Given the description of an element on the screen output the (x, y) to click on. 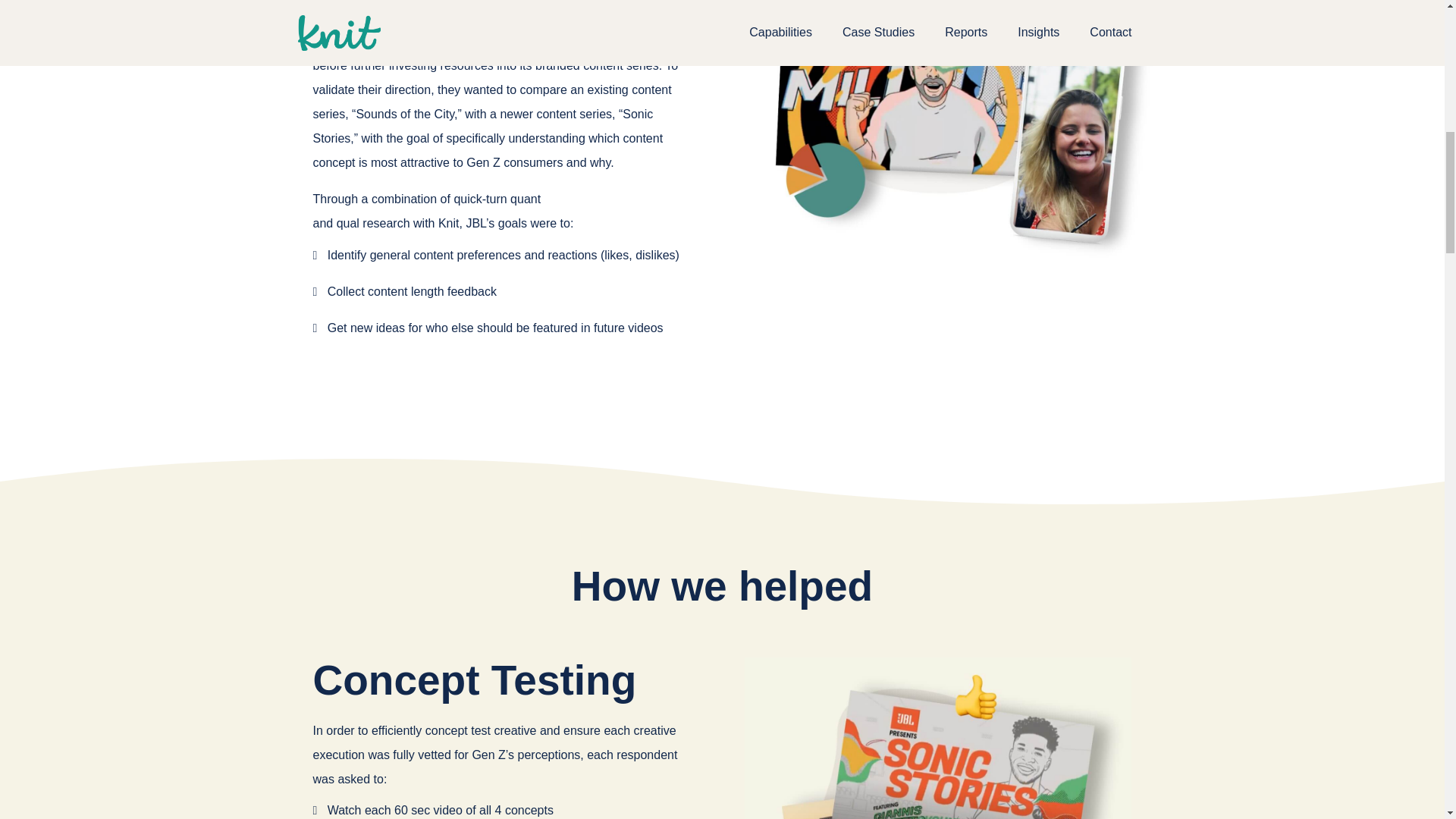
Knit JBL Sonic Stories Concept Testing Mockup 1 (937, 738)
Knit JBL Sonic Stories Data Screenshot (952, 133)
